Given the description of an element on the screen output the (x, y) to click on. 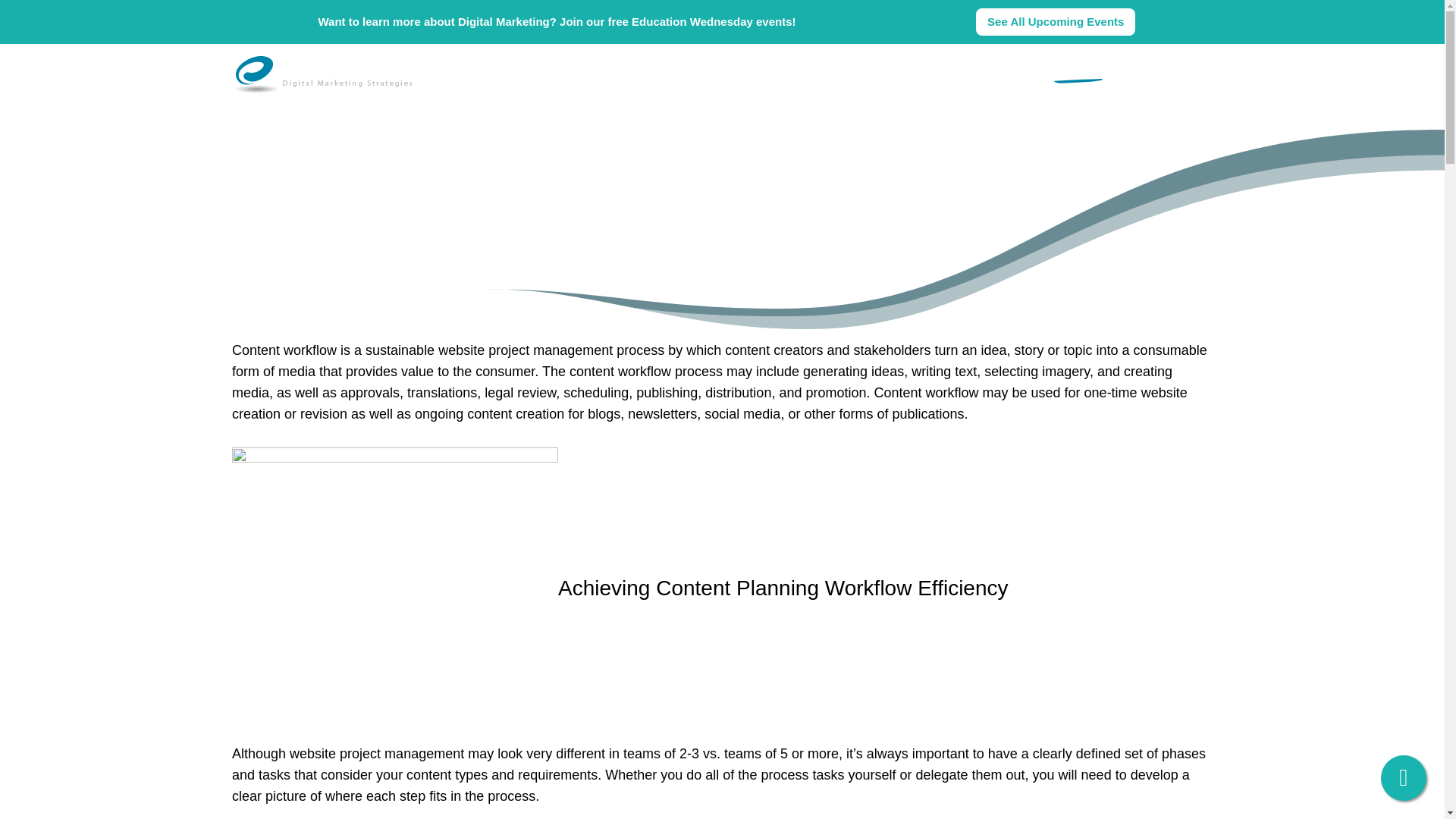
What We Do (927, 70)
Our Process (765, 70)
See All Upcoming Events (1055, 22)
Our Work (846, 70)
Emarkable.ie - Digital Marketing Strategies (326, 69)
